Given the description of an element on the screen output the (x, y) to click on. 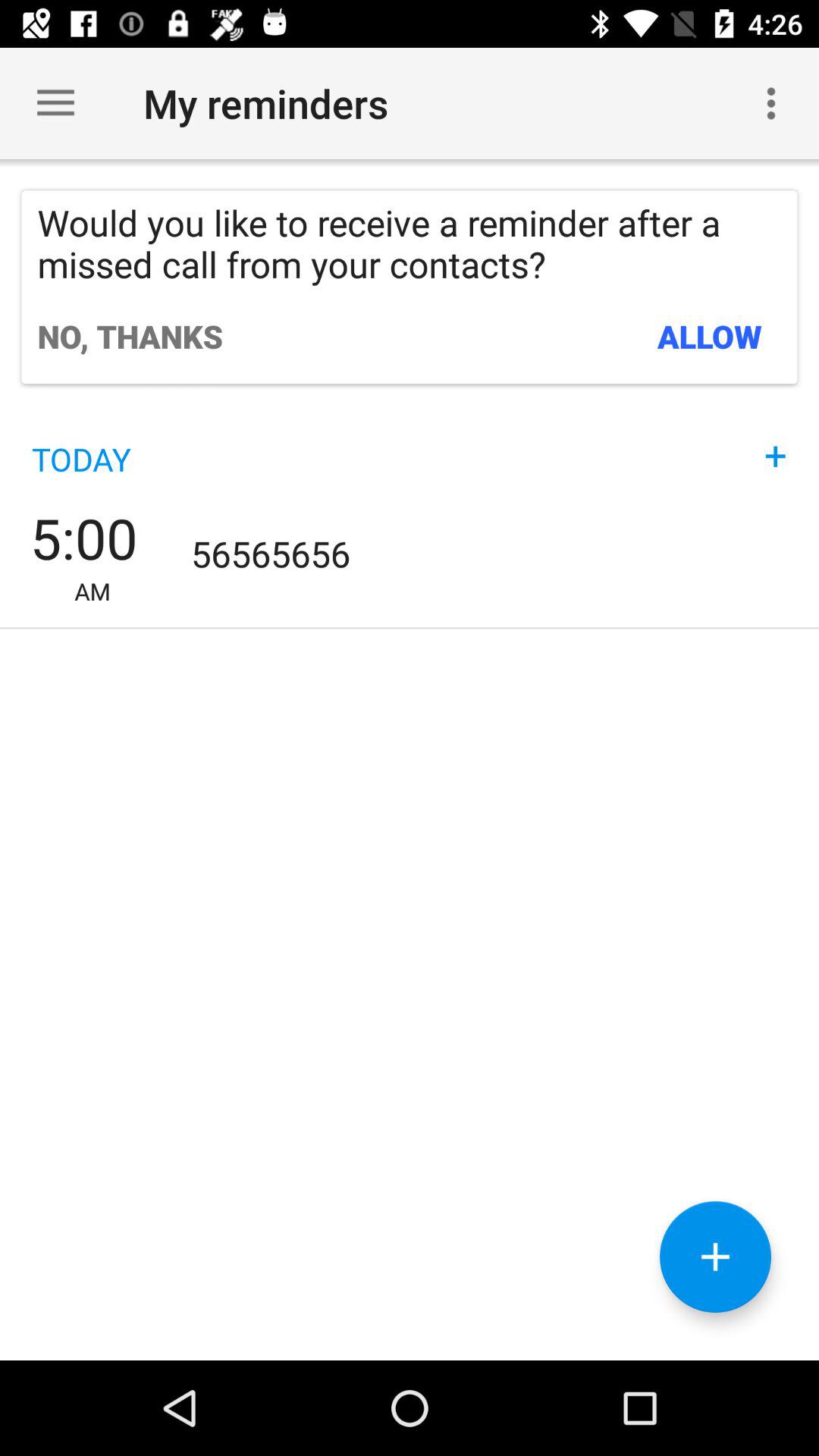
turn on item above the + item (709, 335)
